Given the description of an element on the screen output the (x, y) to click on. 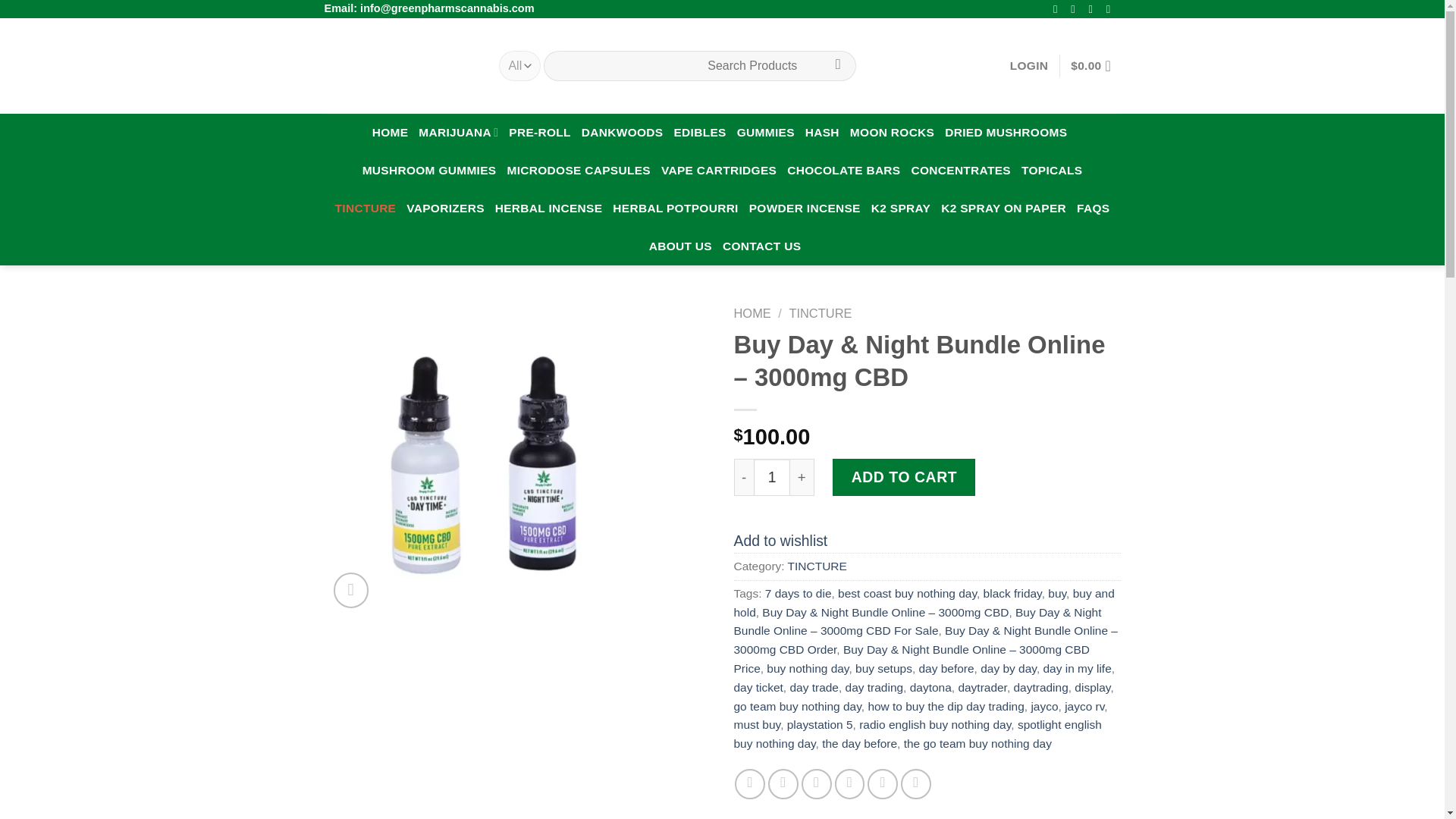
Follow on Instagram (1075, 9)
1 (772, 477)
CONCENTRATES (960, 170)
GUMMIES (765, 132)
VAPORIZERS (445, 208)
Share on Facebook (750, 784)
HOME (390, 132)
PRE-ROLL (539, 132)
Green Pharms Cannabis - Green Pharms Cannabis (400, 65)
MARIJUANA (458, 132)
Follow on Facebook (1058, 9)
CHOCOLATE BARS (843, 170)
Qty (772, 477)
MUSHROOM GUMMIES (429, 170)
ABOUT US (680, 246)
